Given the description of an element on the screen output the (x, y) to click on. 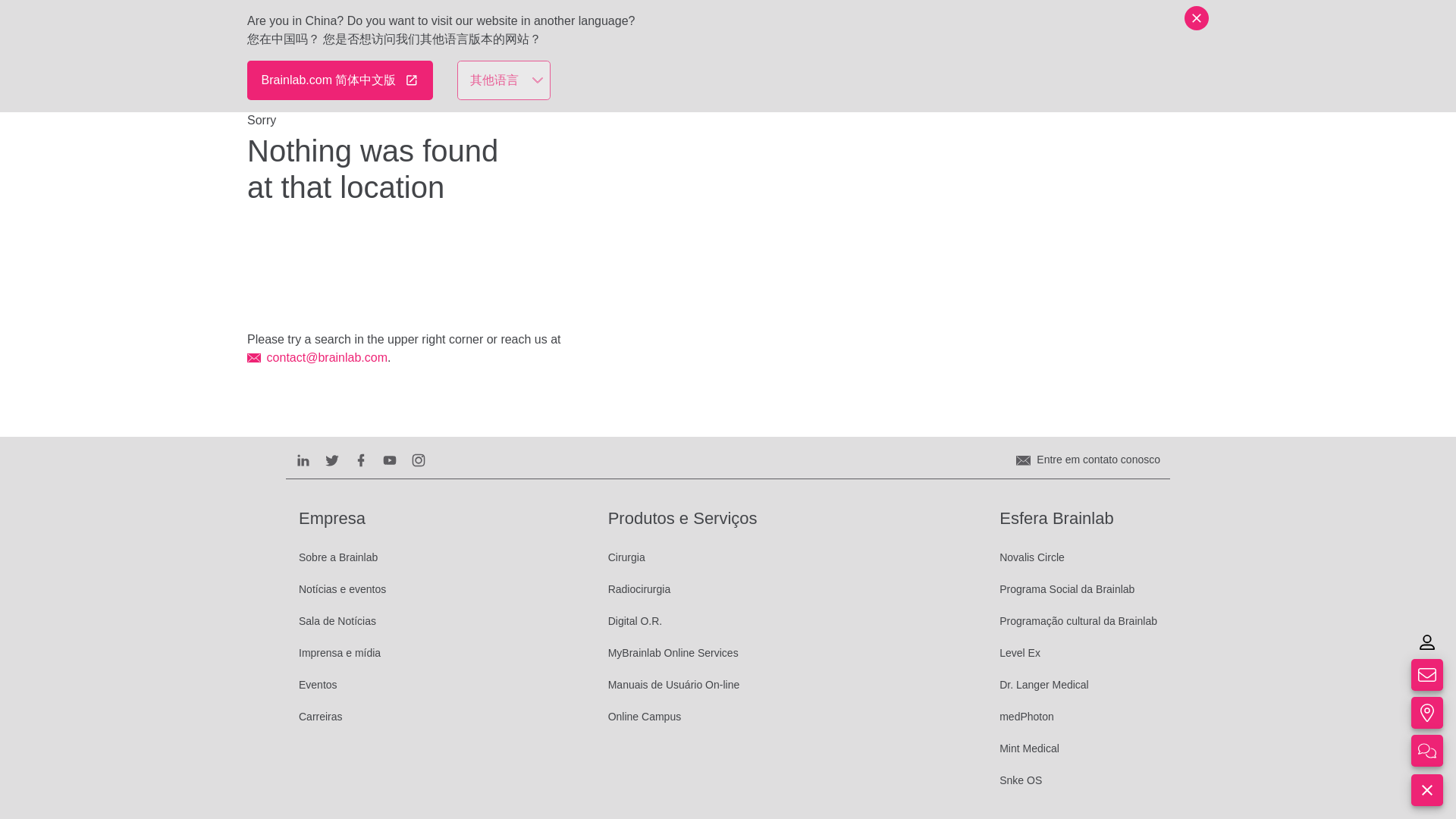
BP (1187, 33)
